Given the description of an element on the screen output the (x, y) to click on. 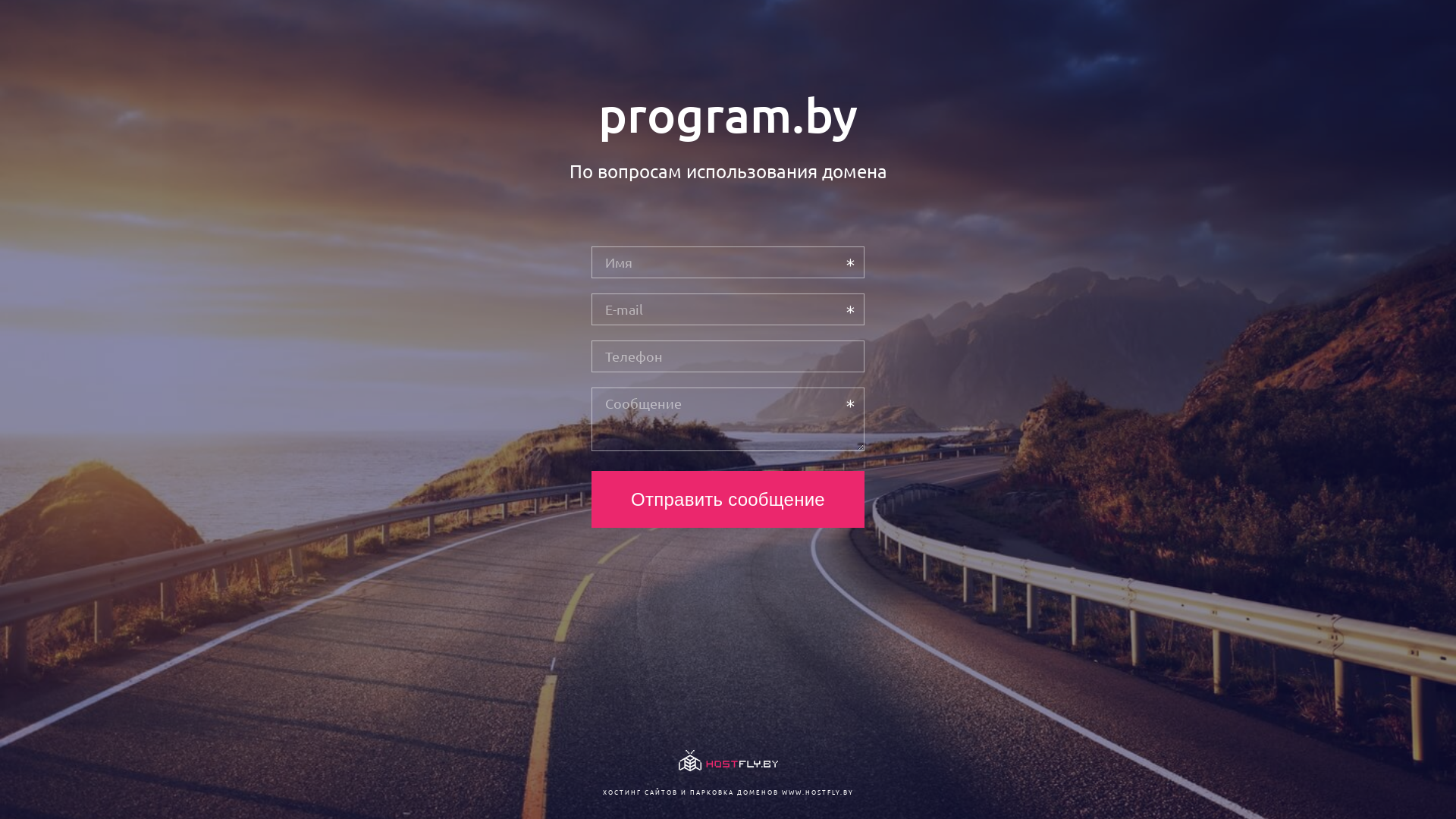
WWW.HOSTFLY.BY Element type: text (817, 791)
